Given the description of an element on the screen output the (x, y) to click on. 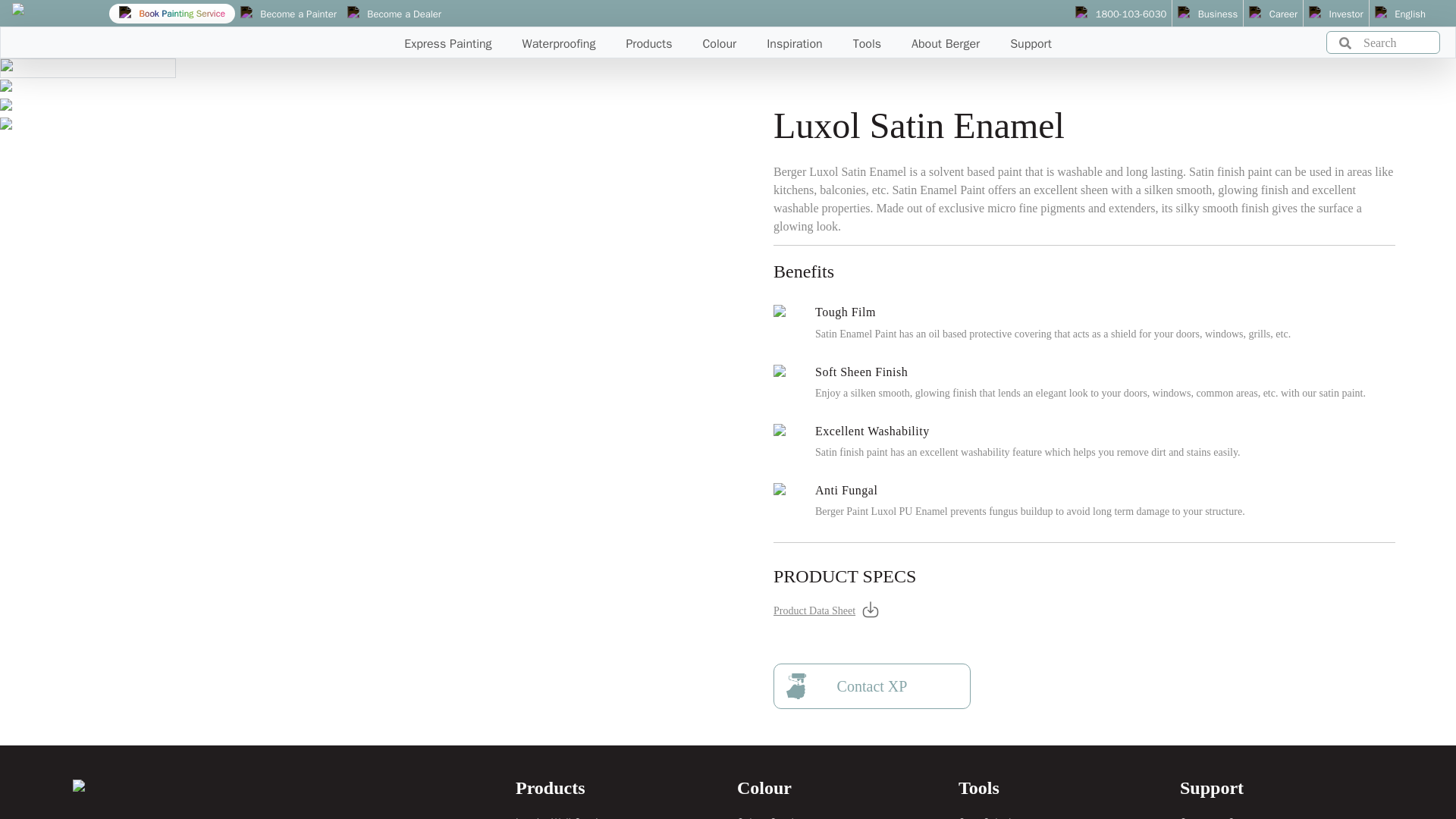
Colour Catalogue (776, 817)
Become a Painter (288, 14)
Interior Wall Coatings (564, 817)
Investor (1335, 14)
Become a Dealer (394, 14)
Contact XP (872, 686)
Business (1207, 14)
Express Painting (447, 38)
1800-103-6030 (1120, 14)
Career (1273, 14)
English (1399, 14)
Cost Calculator (993, 817)
